Given the description of an element on the screen output the (x, y) to click on. 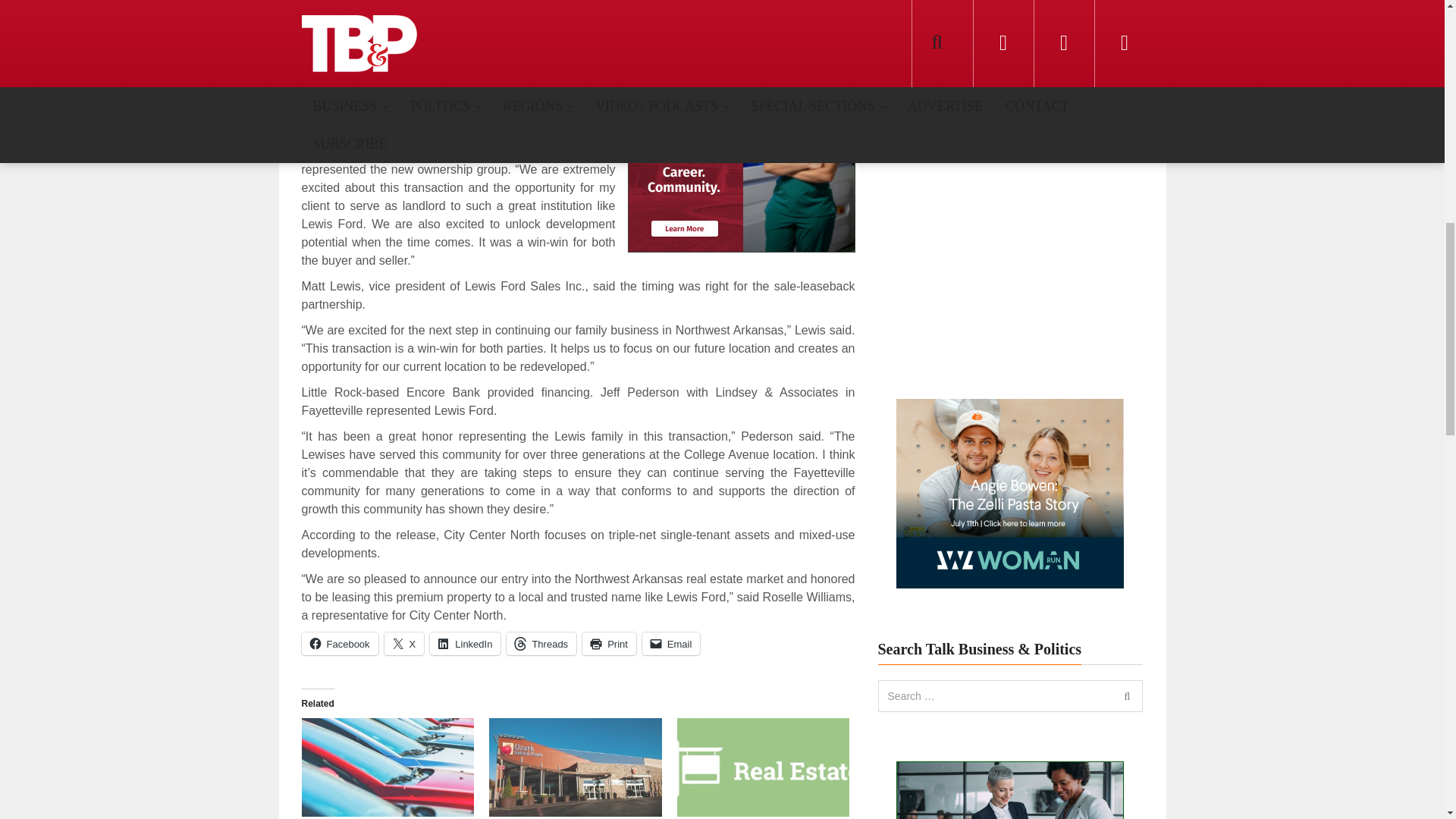
Click to share on X (404, 643)
Click to print (609, 643)
Click to share on Facebook (339, 643)
Click to share on Threads (541, 643)
Click to email a link to a friend (671, 643)
Click to share on LinkedIn (464, 643)
